Given the description of an element on the screen output the (x, y) to click on. 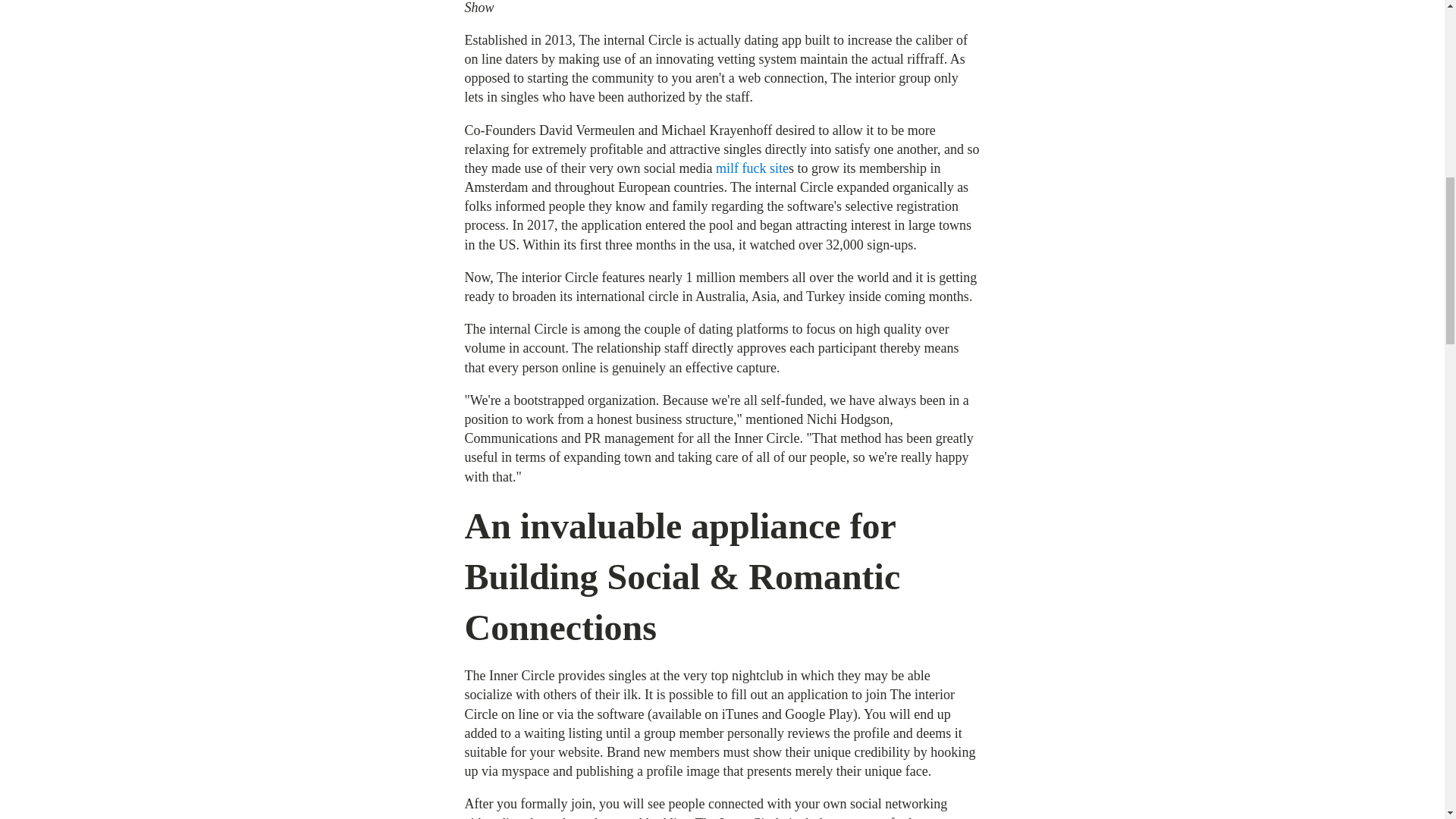
milf fuck site (752, 168)
